Given the description of an element on the screen output the (x, y) to click on. 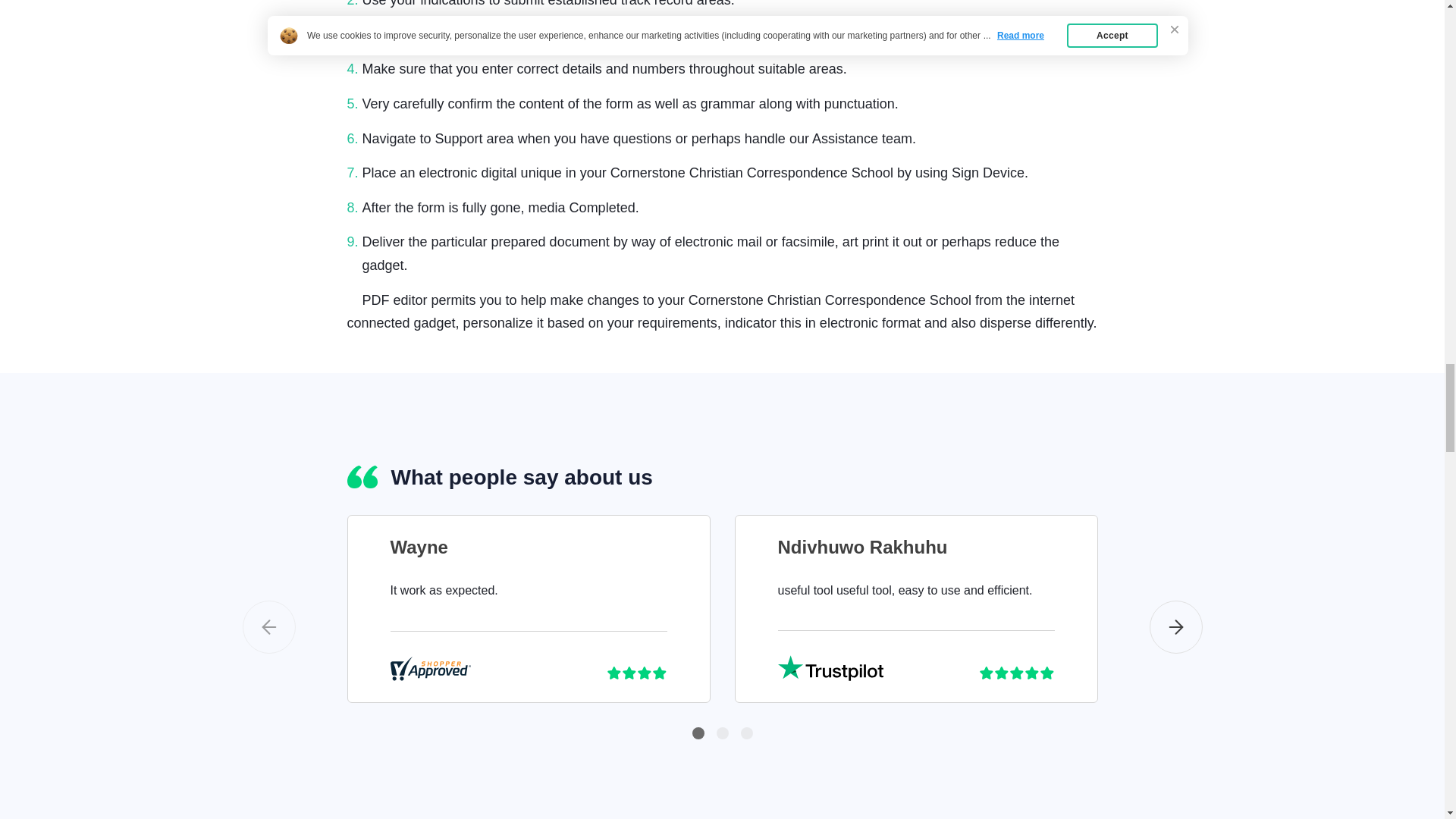
2 (722, 733)
Next (1176, 626)
3 (745, 733)
Previous (269, 626)
1 (697, 733)
